Given the description of an element on the screen output the (x, y) to click on. 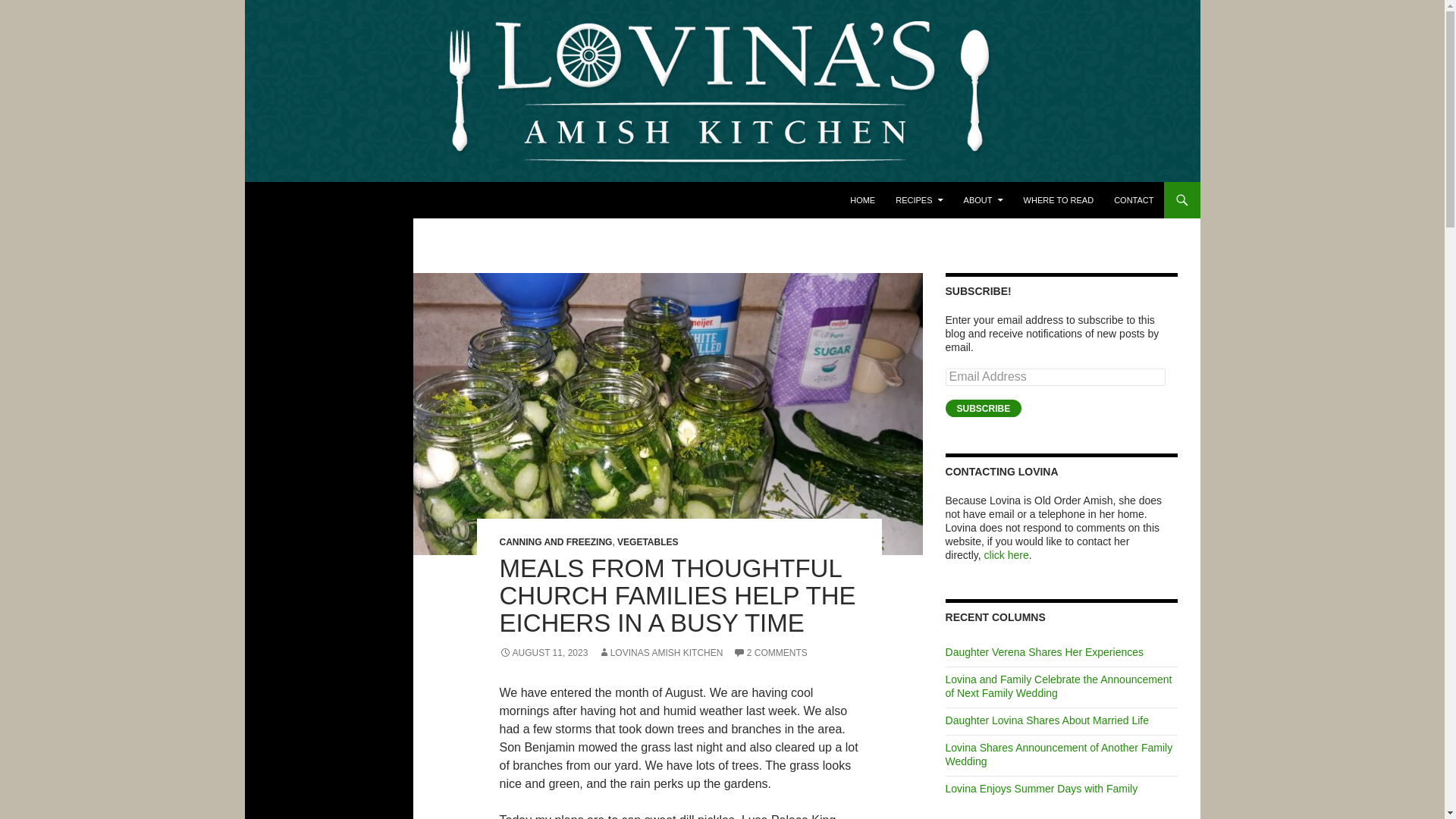
CONTACT (1133, 199)
RECIPES (919, 199)
VEGETABLES (647, 542)
2 COMMENTS (770, 652)
WHERE TO READ (1058, 199)
AUGUST 11, 2023 (543, 652)
LOVINAS AMISH KITCHEN (660, 652)
ABOUT (983, 199)
